Given the description of an element on the screen output the (x, y) to click on. 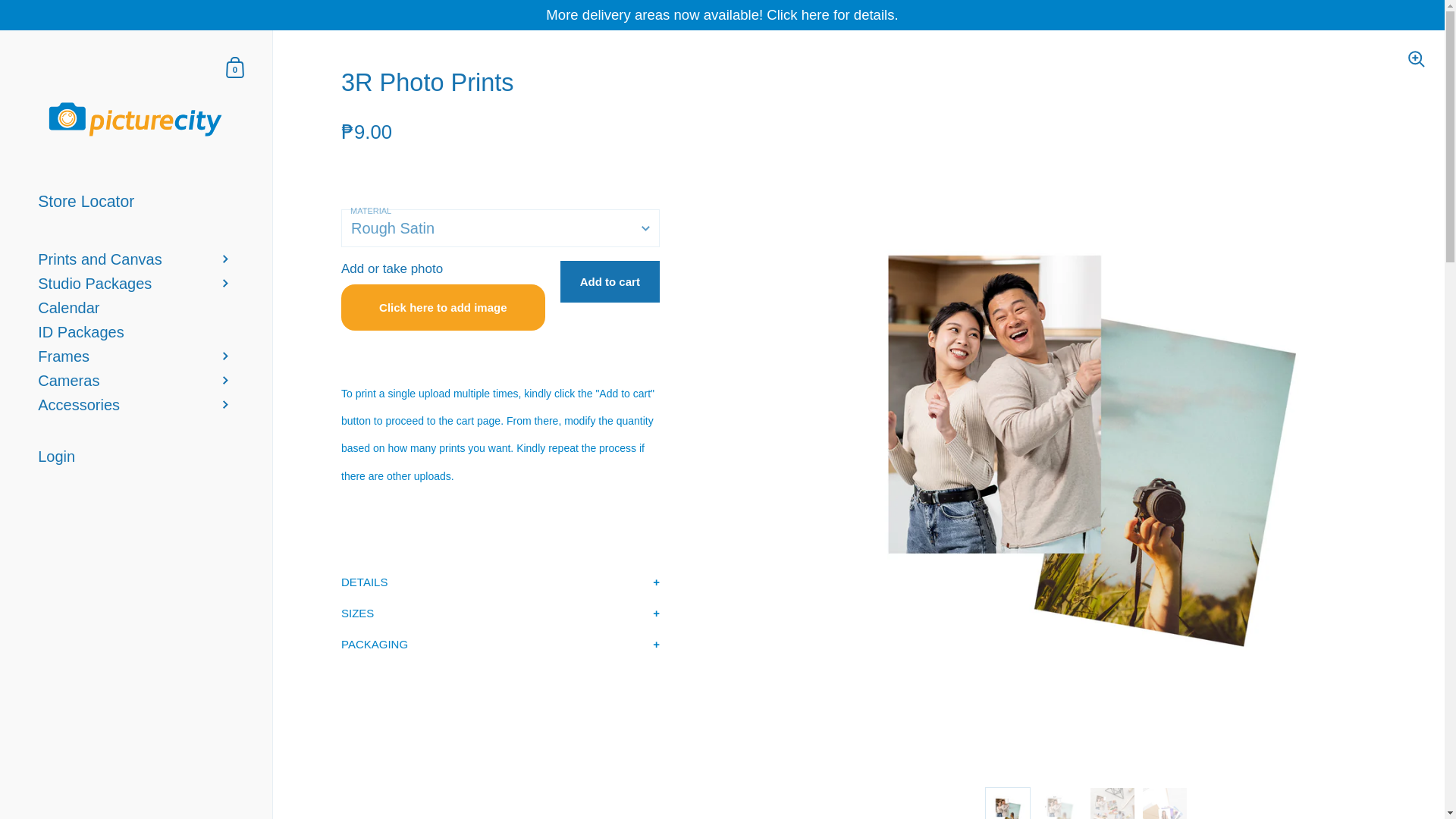
ID Packages (235, 66)
Shopping Cart (136, 331)
Frames (235, 66)
Cameras (136, 355)
Calendar (136, 380)
Login (136, 307)
Skip to content (136, 457)
Store Locator (136, 404)
Prints and Canvas (136, 201)
Studio Packages (136, 259)
